Given the description of an element on the screen output the (x, y) to click on. 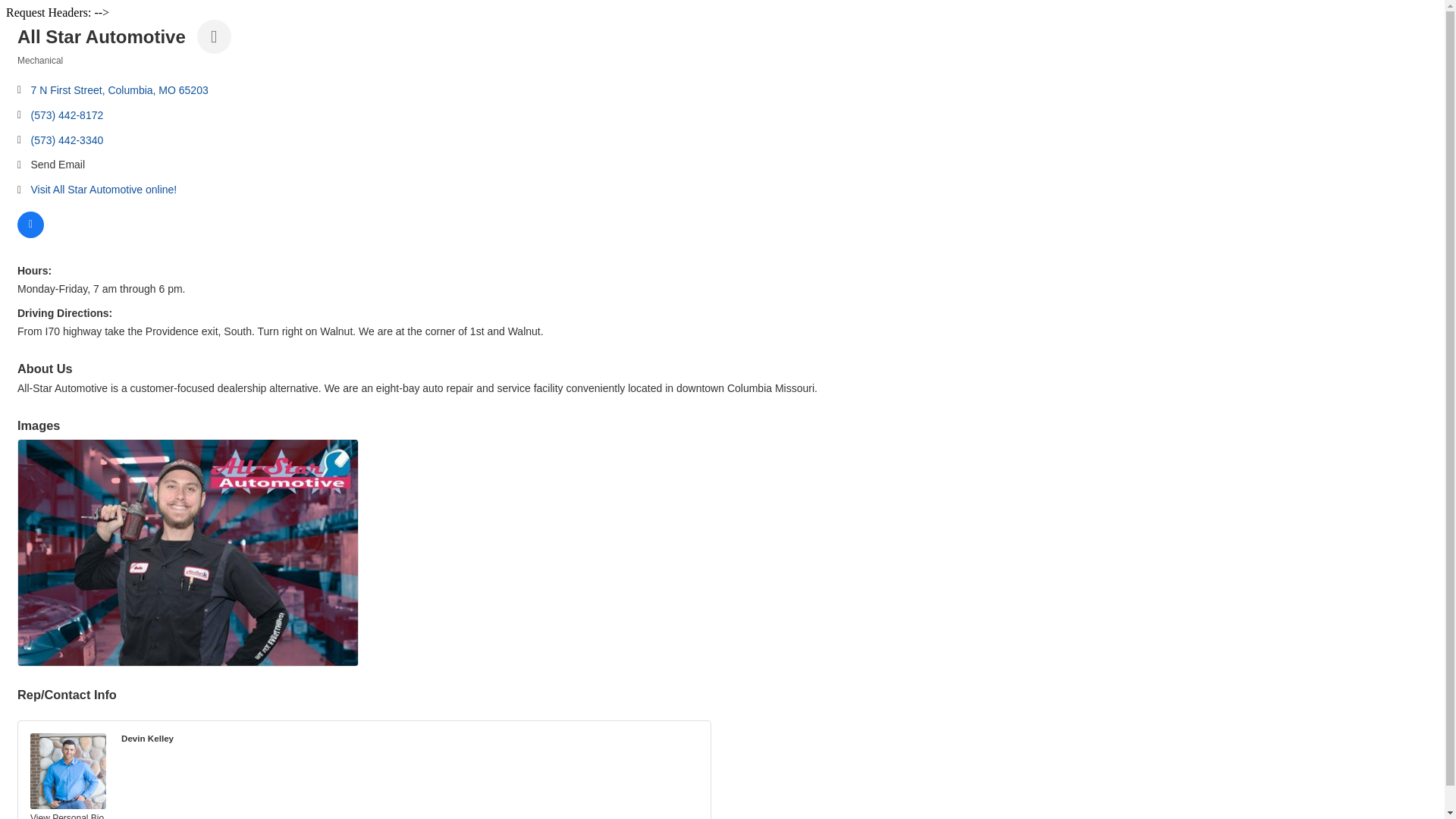
All-Star Automotive Technician (187, 552)
View on Facebook (30, 234)
Visit All Star Automotive online! (103, 189)
Send Email (57, 164)
7 N First Street Columbia MO 65203 (119, 90)
